Given the description of an element on the screen output the (x, y) to click on. 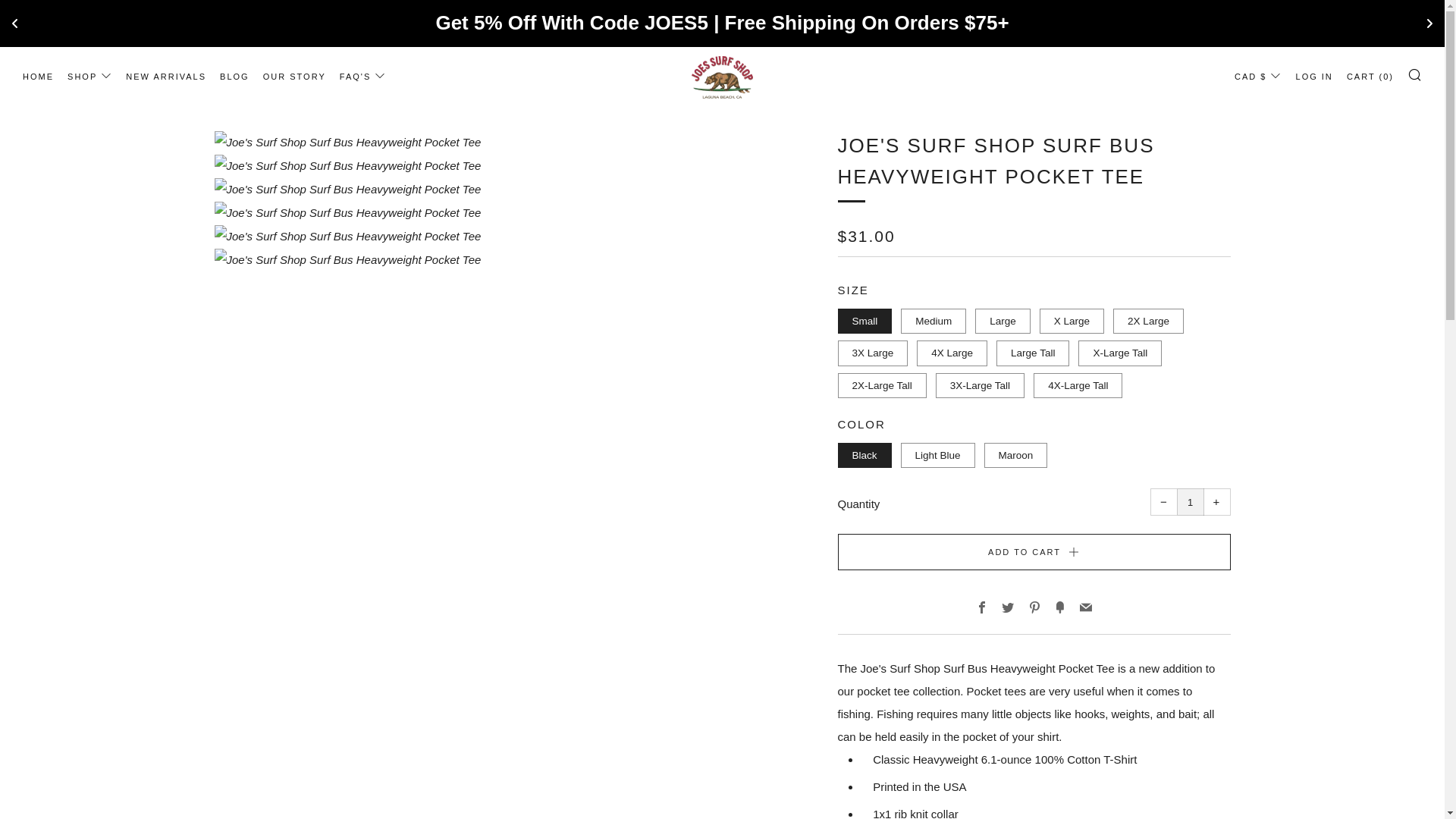
1 (1190, 501)
